Given the description of an element on the screen output the (x, y) to click on. 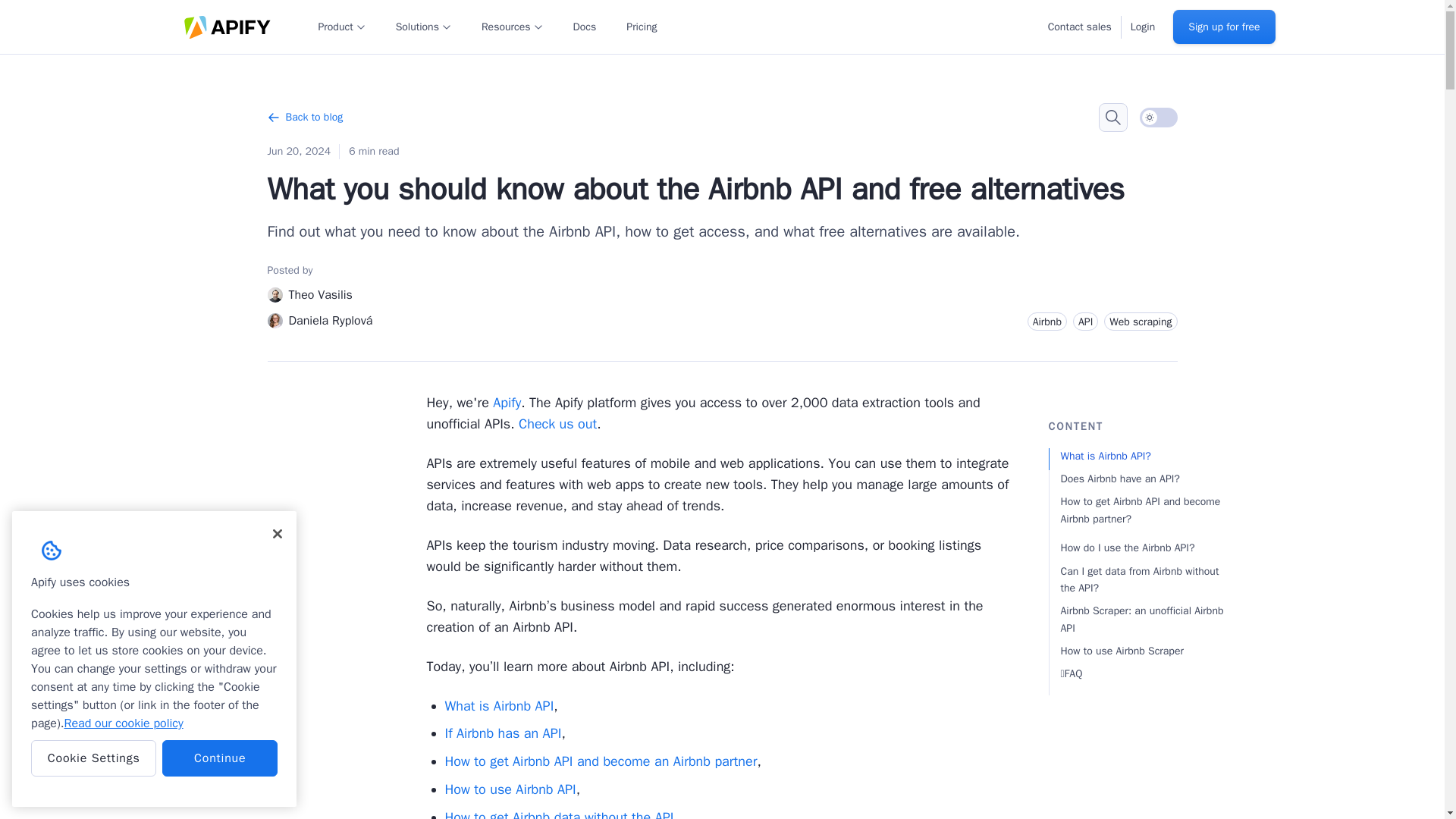
Docs (584, 26)
Theo Vasilis (309, 294)
Back to blog (304, 117)
Pricing (641, 26)
Company Logo (51, 550)
Contact sales (1080, 26)
Sign up for free (1224, 26)
Login (1142, 26)
